Given the description of an element on the screen output the (x, y) to click on. 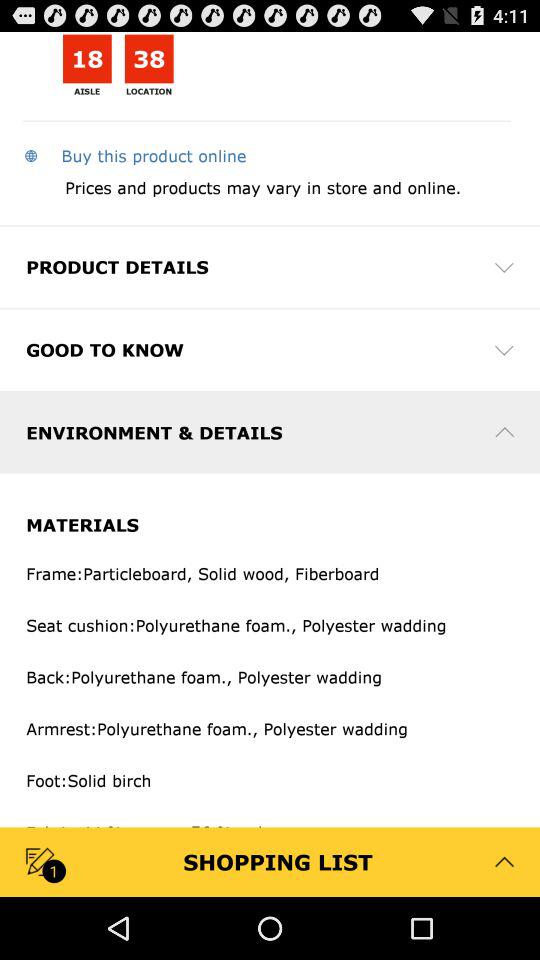
jump to buy this product (134, 155)
